Given the description of an element on the screen output the (x, y) to click on. 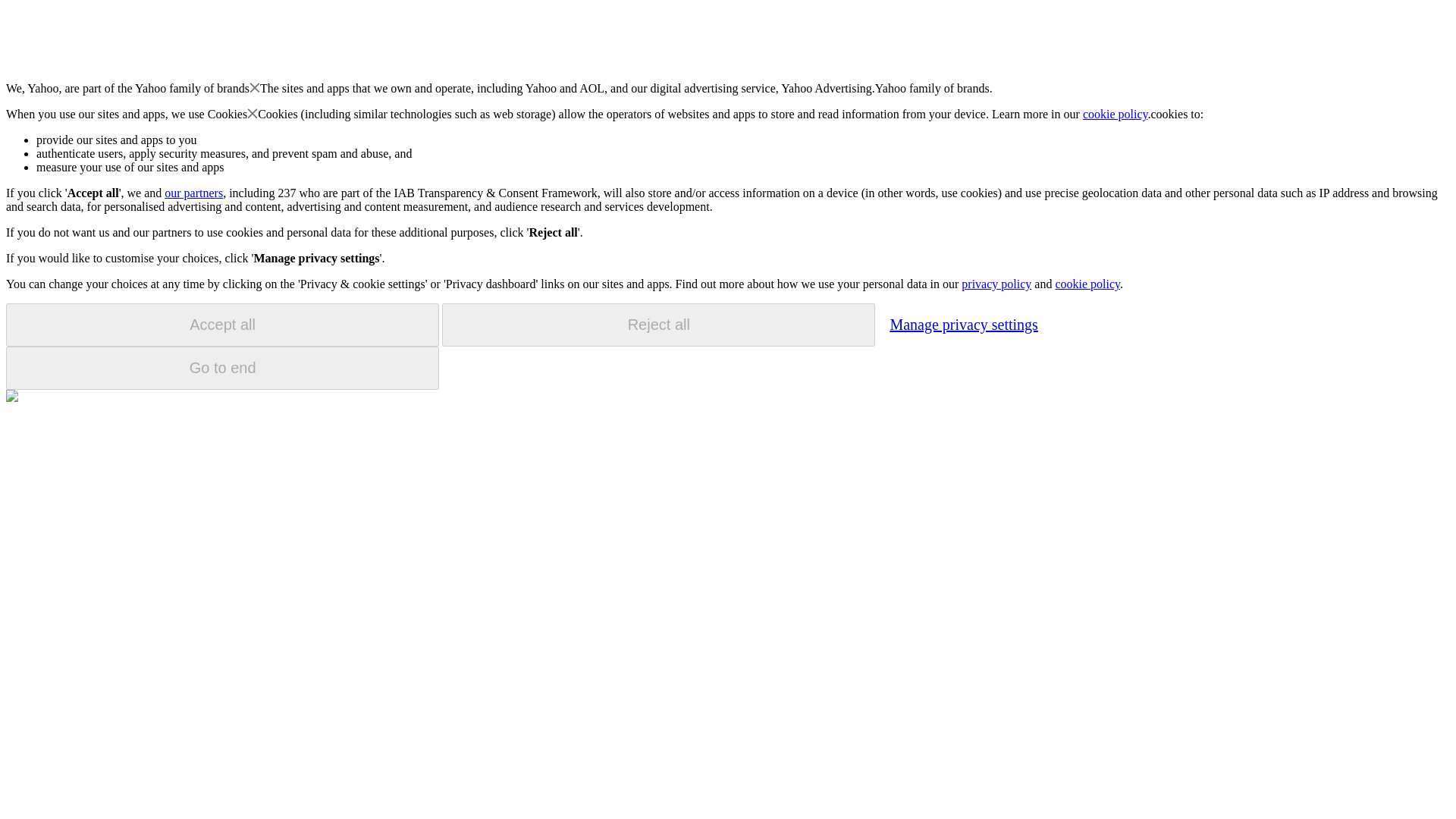
cookie policy (1115, 113)
Go to end (222, 367)
our partners (193, 192)
Reject all (658, 324)
Manage privacy settings (963, 323)
Accept all (222, 324)
cookie policy (1086, 283)
privacy policy (995, 283)
